Given the description of an element on the screen output the (x, y) to click on. 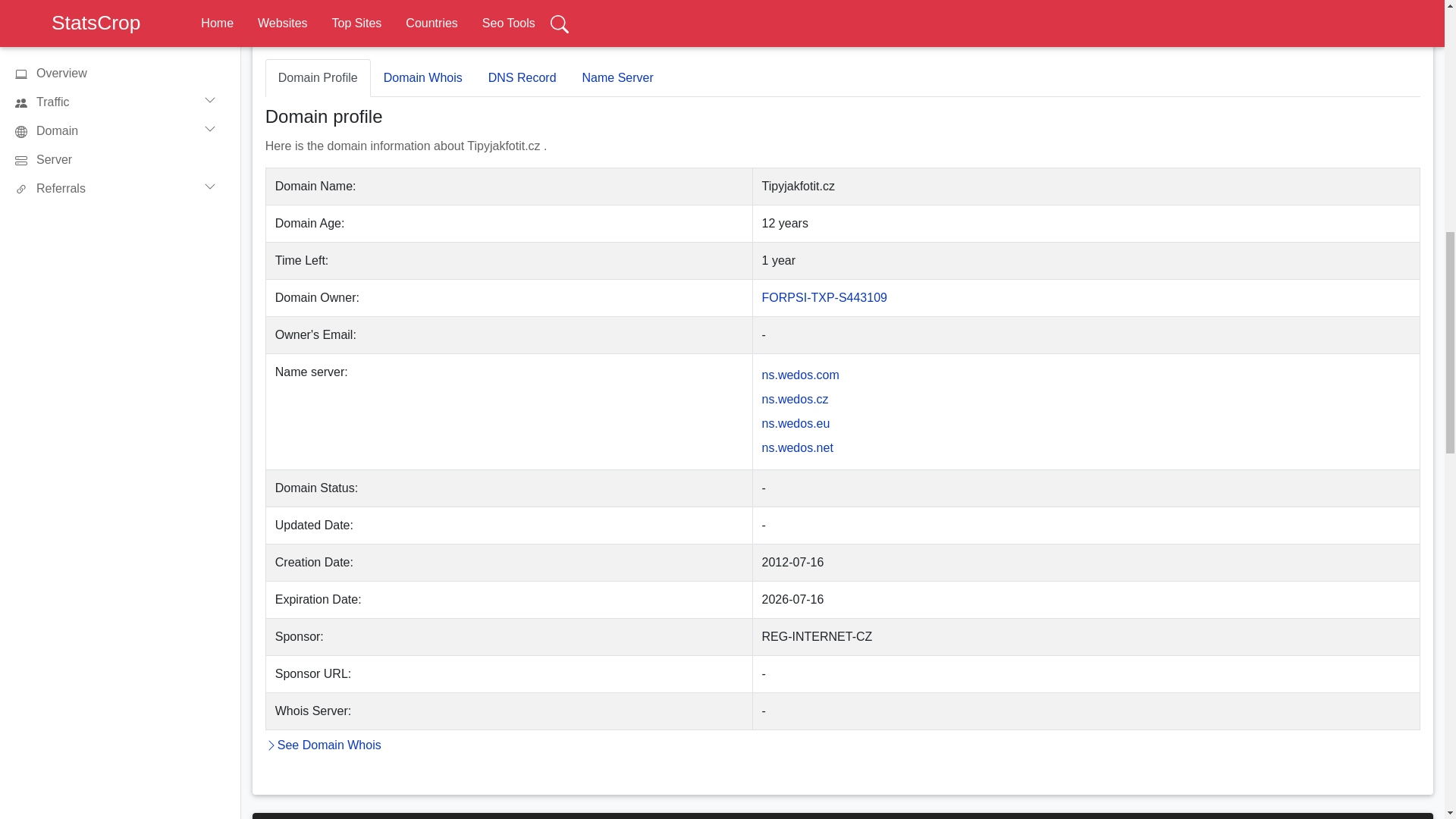
ns.wedos.eu (795, 422)
FORPSI-TXP-S443109 (823, 297)
ns.wedos.cz (794, 399)
DNS Record (522, 77)
ns.wedos.net (796, 447)
Name Server (617, 77)
FORPSI-TXP-S443109 (823, 297)
ns.wedos.com (800, 374)
Domain Whois (423, 77)
ns.wedos.cz (794, 399)
Domain Profile (317, 77)
ns.wedos.com (800, 374)
